Given the description of an element on the screen output the (x, y) to click on. 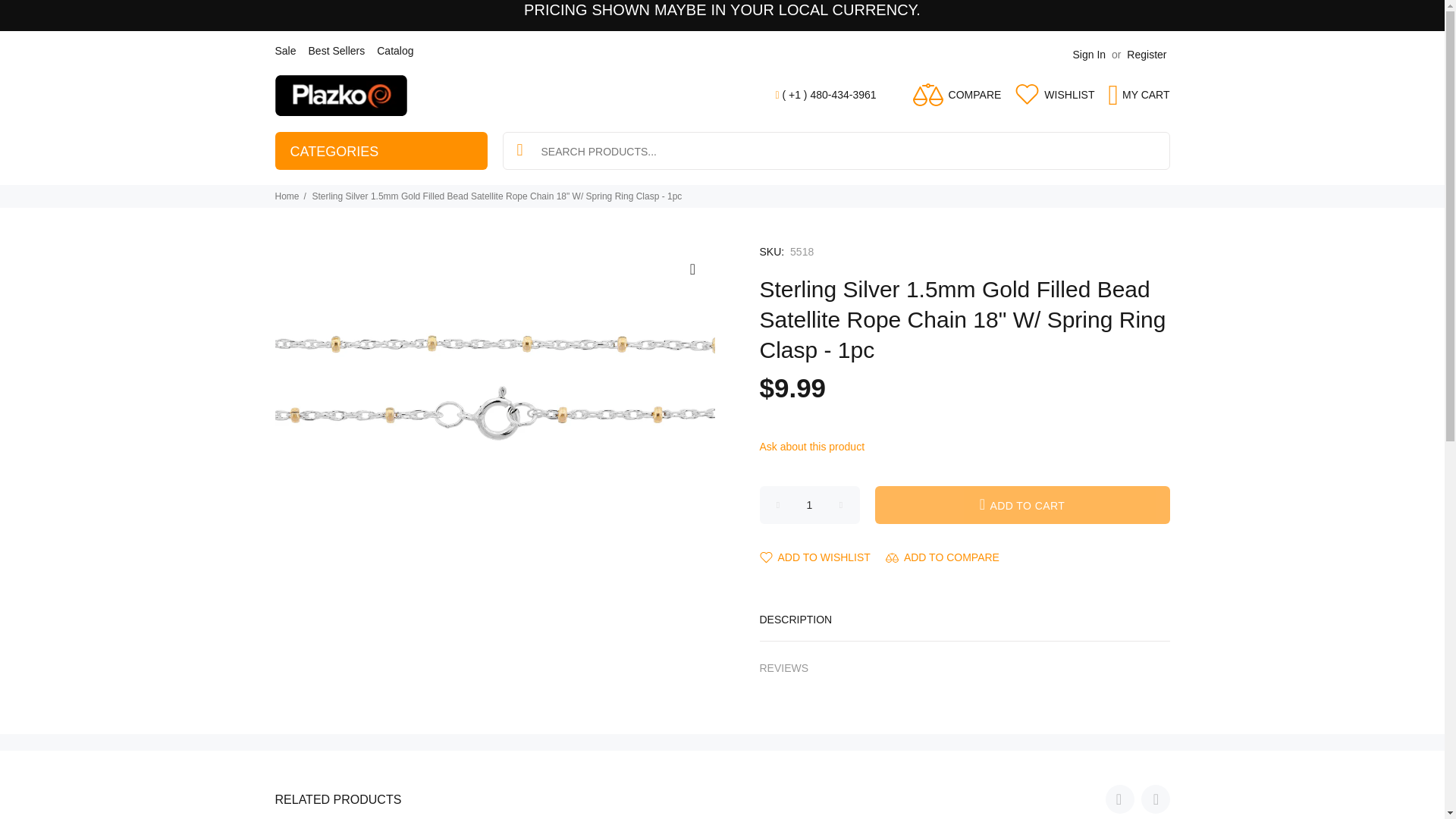
1 (810, 505)
